Given the description of an element on the screen output the (x, y) to click on. 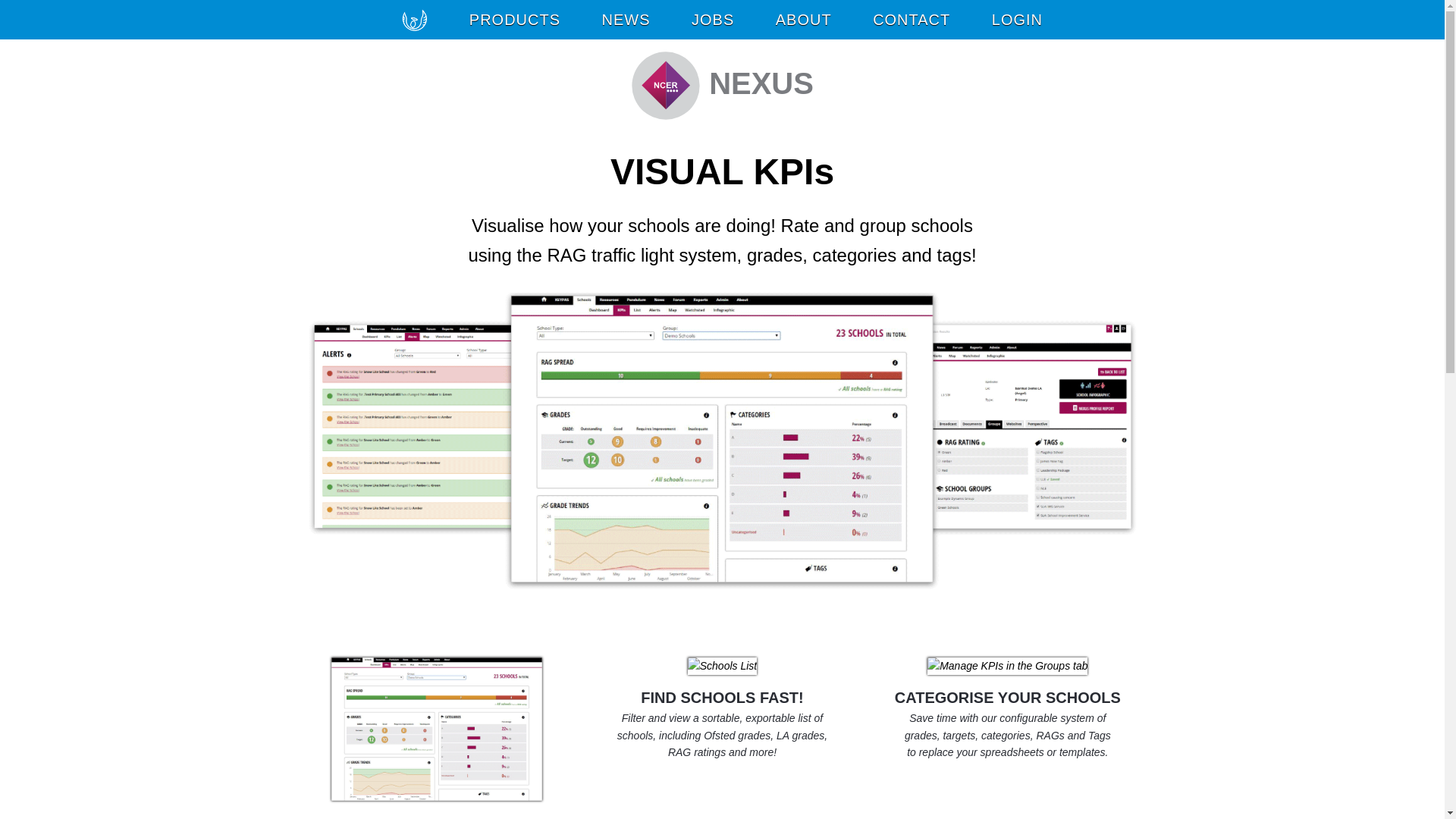
NEWS (625, 19)
LOGIN (1017, 19)
About Angel (803, 19)
CONTACT (911, 19)
NEXUS (721, 85)
Angel News (625, 19)
Angel Products (514, 19)
PRODUCTS (514, 19)
JOBS (712, 19)
ABOUT (803, 19)
